Given the description of an element on the screen output the (x, y) to click on. 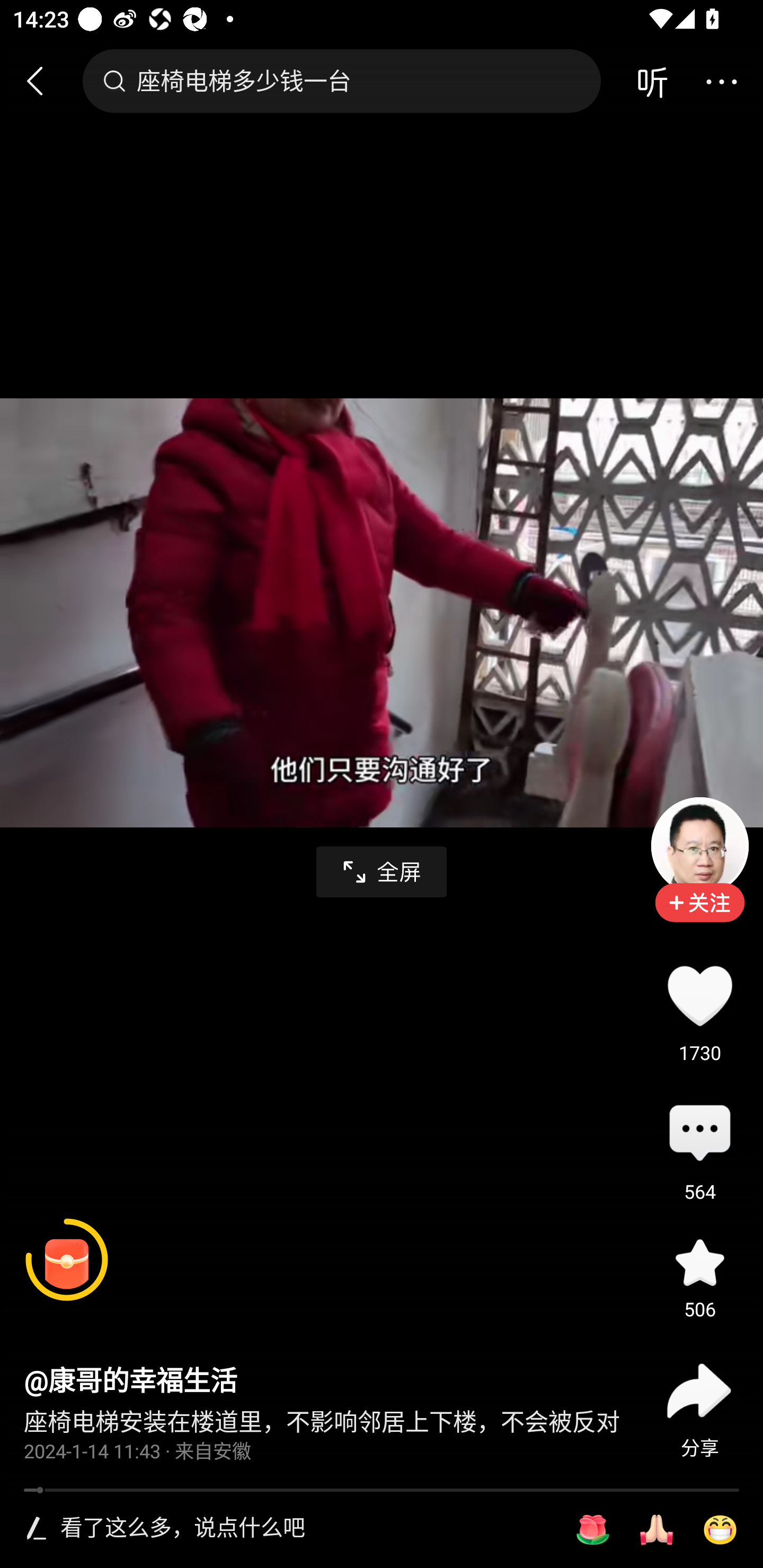
座椅电梯多少钱一台 搜索框，座椅电梯多少钱一台 (341, 80)
返回 (43, 80)
音频 (651, 80)
更多操作 (720, 80)
头像 (699, 845)
全屏播放 (381, 871)
点赞1730 1730 (699, 995)
评论564 评论 564 (699, 1134)
收藏 506 (699, 1262)
阅读赚金币 (66, 1259)
分享 (699, 1390)
@康哥的幸福生活 (130, 1381)
看了这么多，说点什么吧 (305, 1529)
[玫瑰] (592, 1530)
[祈祷] (656, 1530)
[呲牙] (719, 1530)
